Given the description of an element on the screen output the (x, y) to click on. 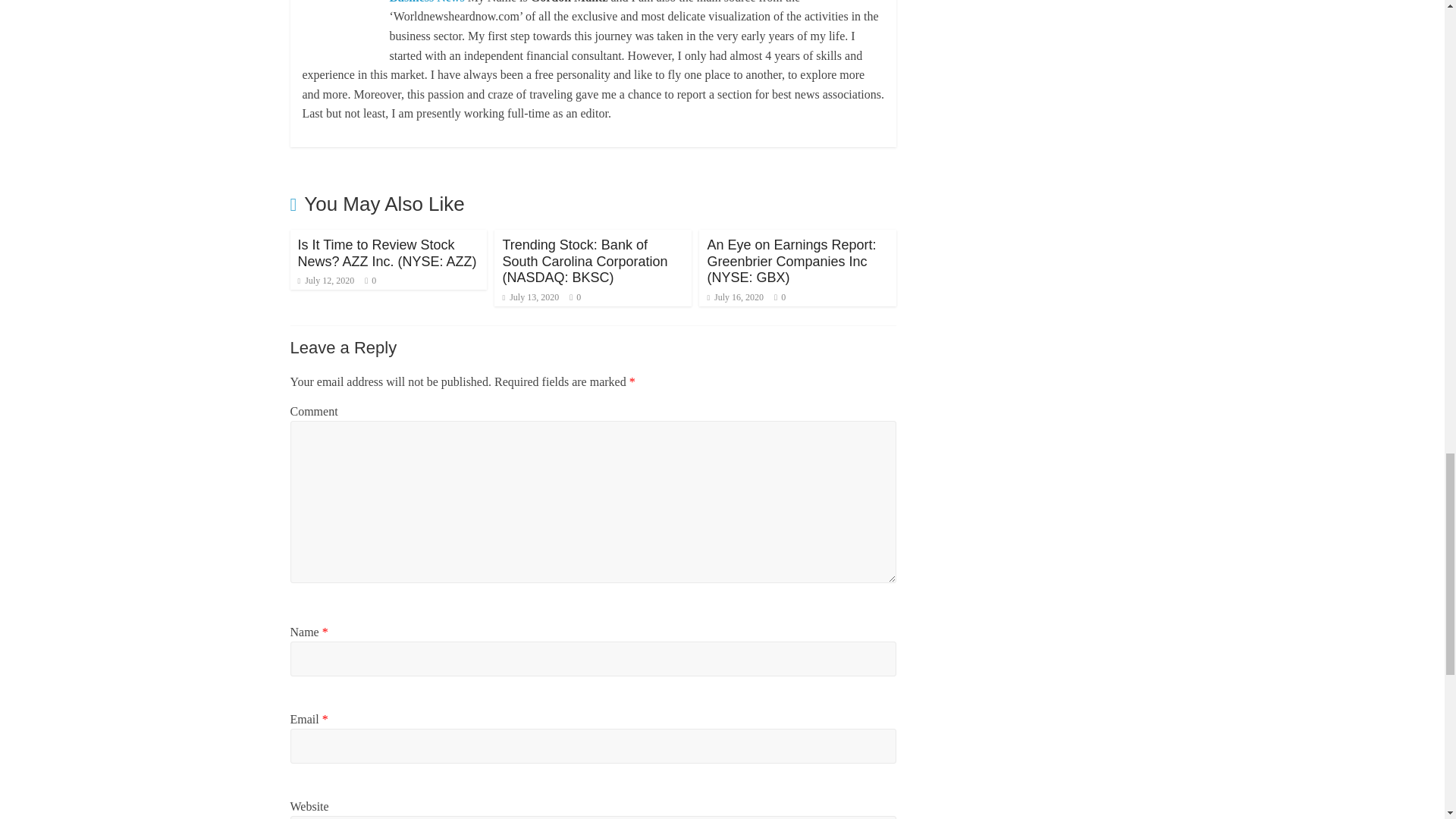
7:24 am (325, 280)
July 12, 2020 (325, 280)
July 13, 2020 (530, 296)
Business News (426, 2)
